Given the description of an element on the screen output the (x, y) to click on. 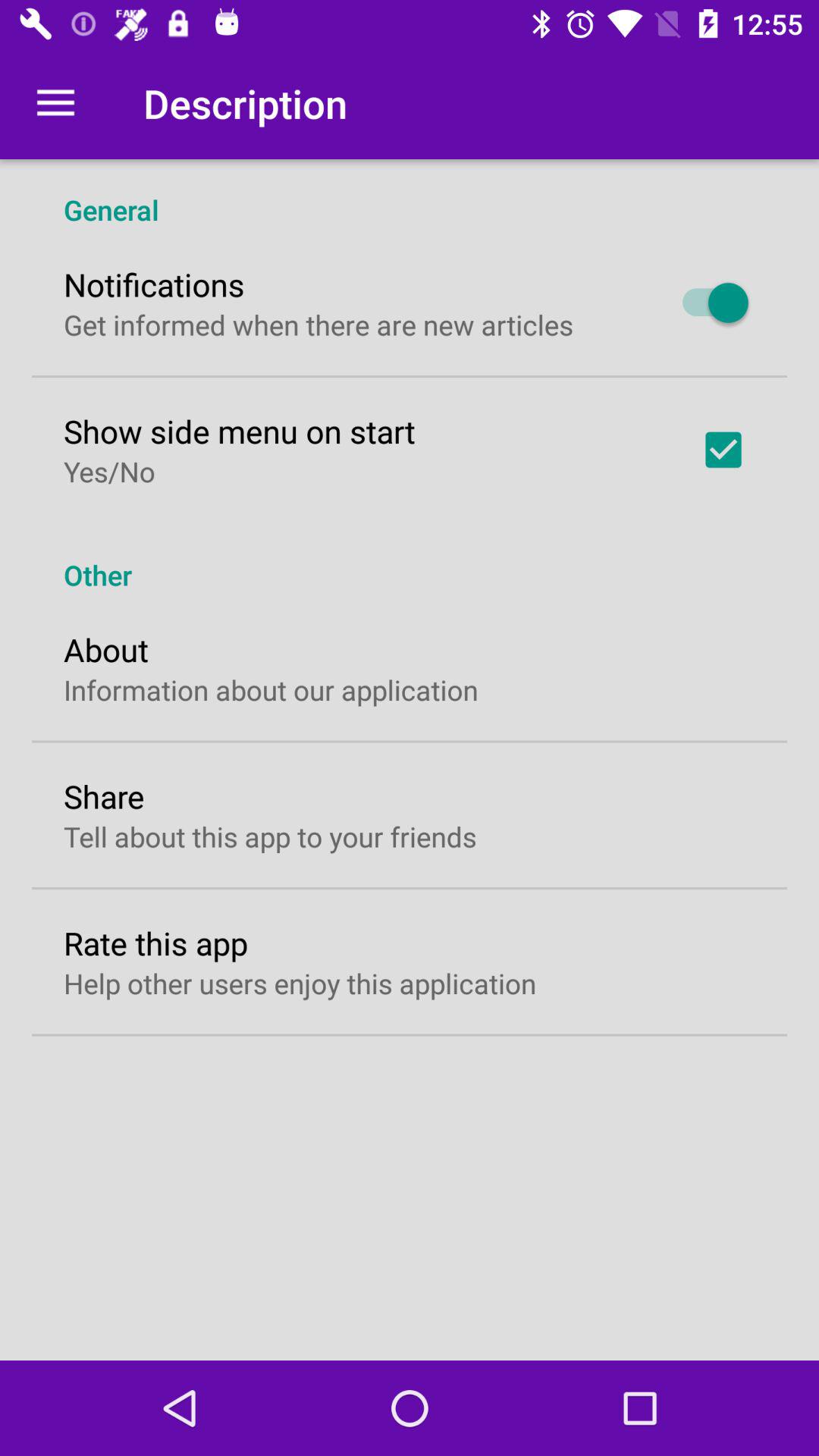
select information about our icon (270, 689)
